Given the description of an element on the screen output the (x, y) to click on. 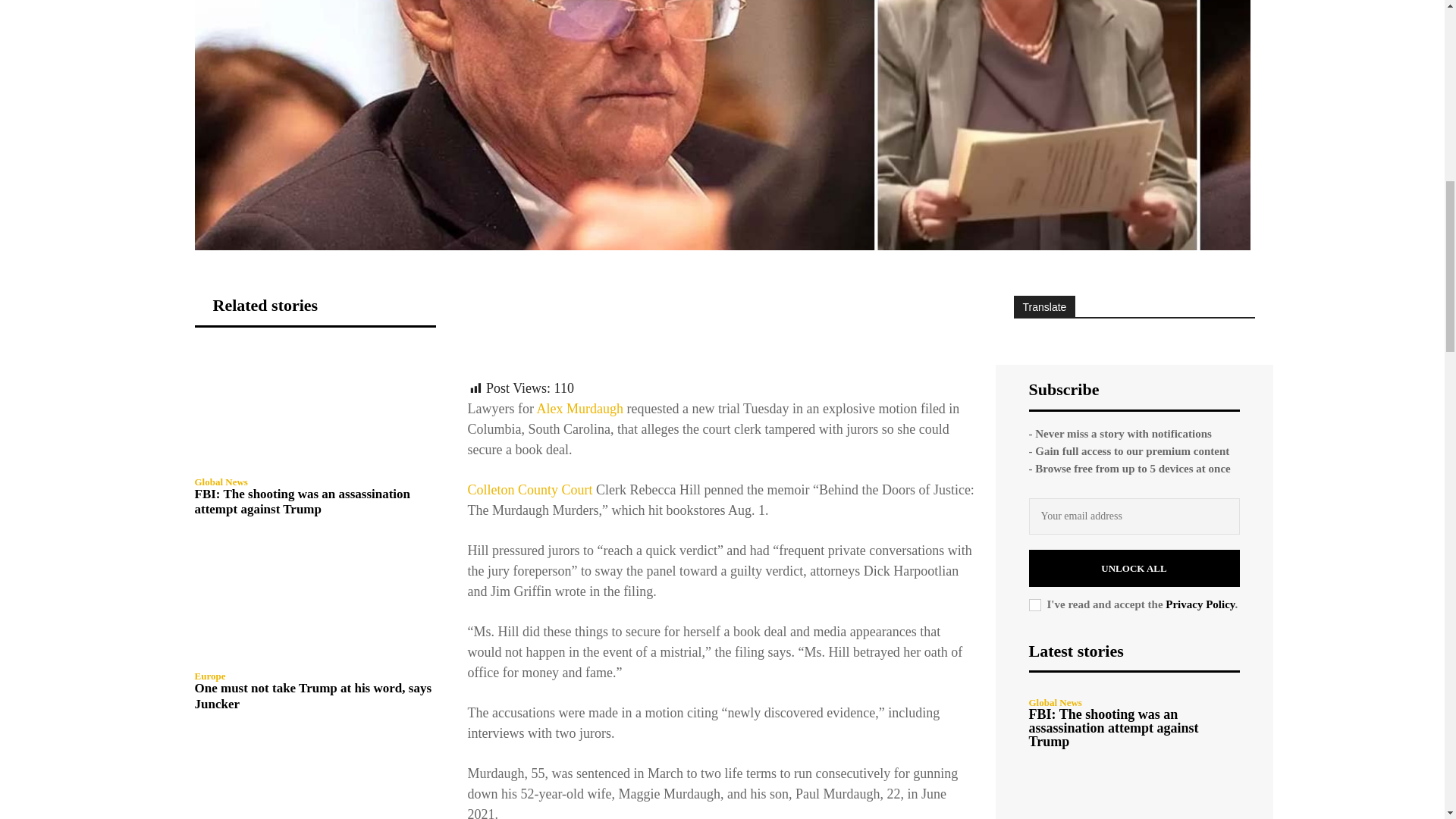
One must not take Trump at his word, says Juncker (314, 600)
FBI: The shooting was an assassination attempt against Trump (301, 501)
FBI: The shooting was an assassination attempt against Trump (314, 406)
